Given the description of an element on the screen output the (x, y) to click on. 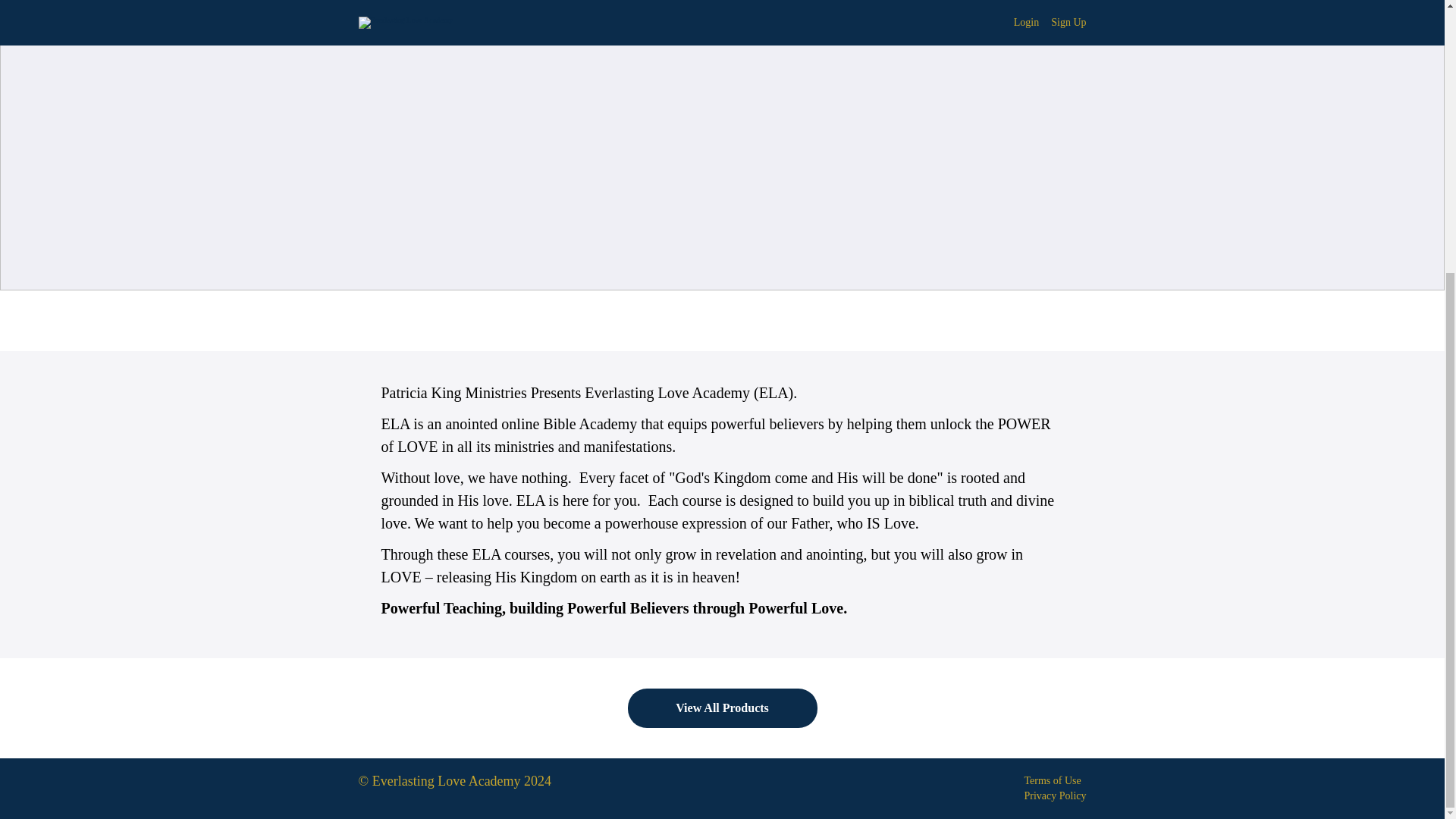
View All Products (721, 708)
Terms of Use (1051, 780)
View All Products (721, 709)
Privacy Policy (1054, 795)
